Given the description of an element on the screen output the (x, y) to click on. 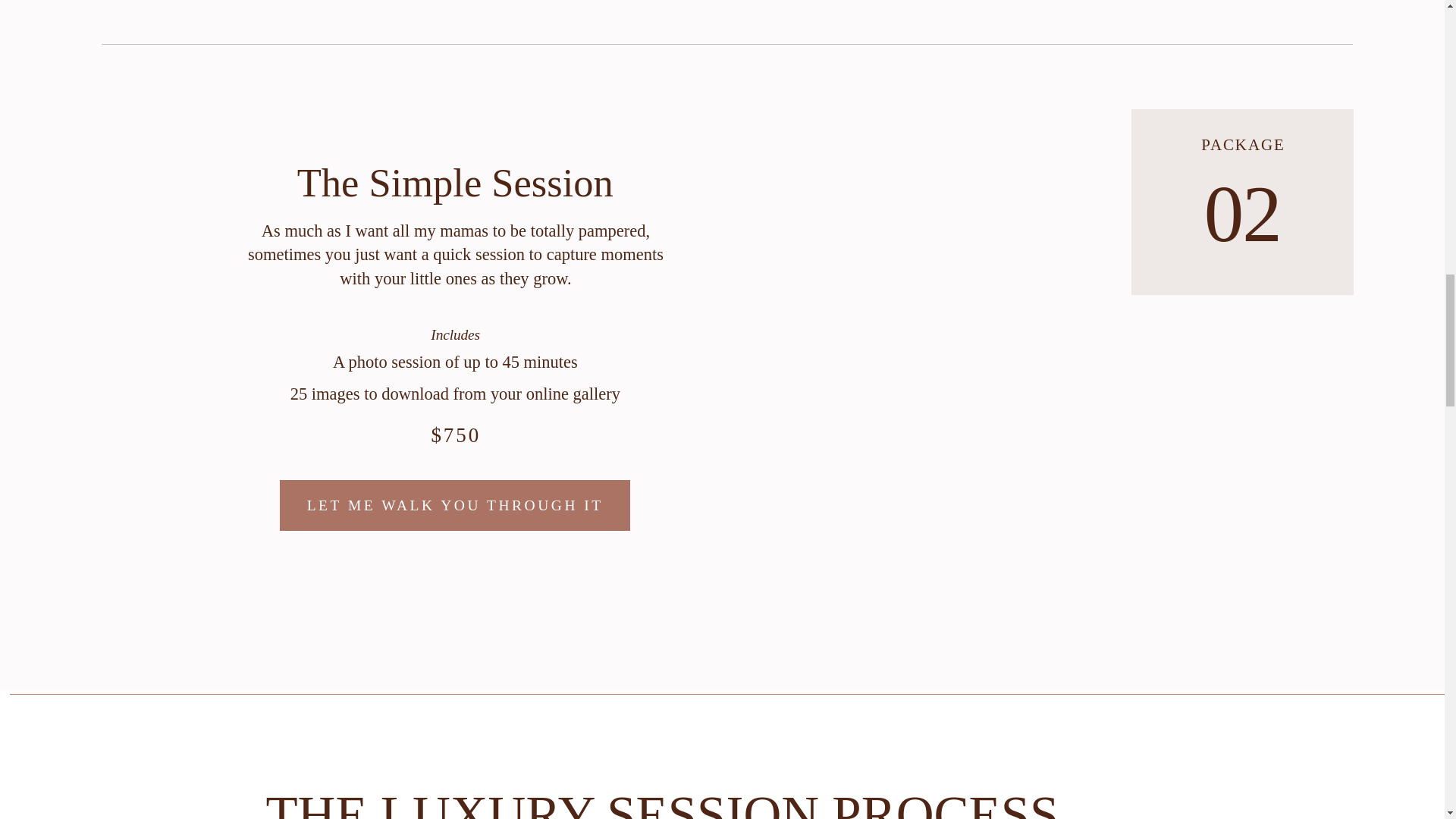
LET ME WALK YOU THROUGH IT (454, 504)
